Given the description of an element on the screen output the (x, y) to click on. 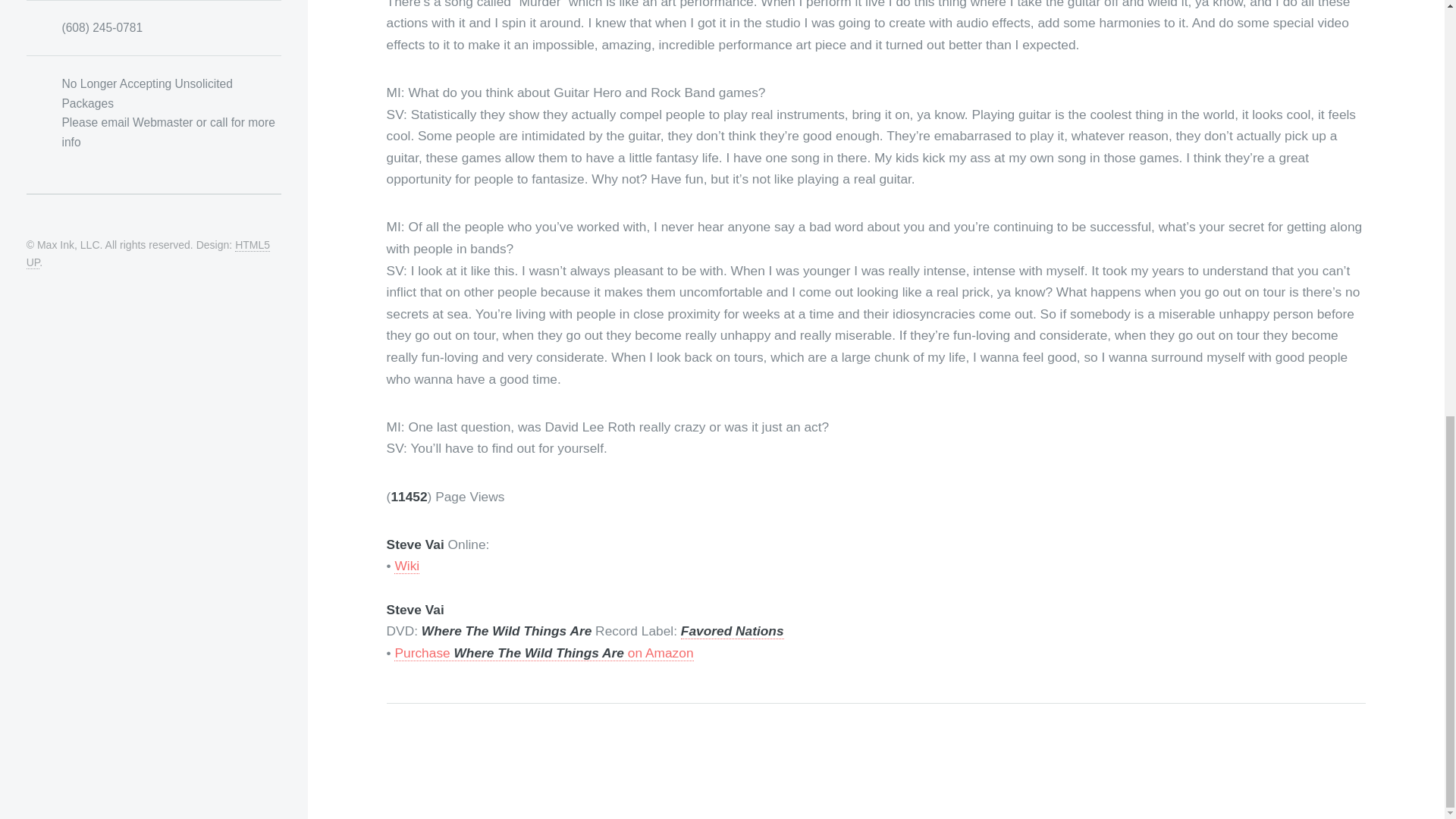
Wiki (406, 565)
HTML5 UP (147, 254)
Purchase Where The Wild Things Are on Amazon (543, 652)
Favored Nations (732, 631)
